Given the description of an element on the screen output the (x, y) to click on. 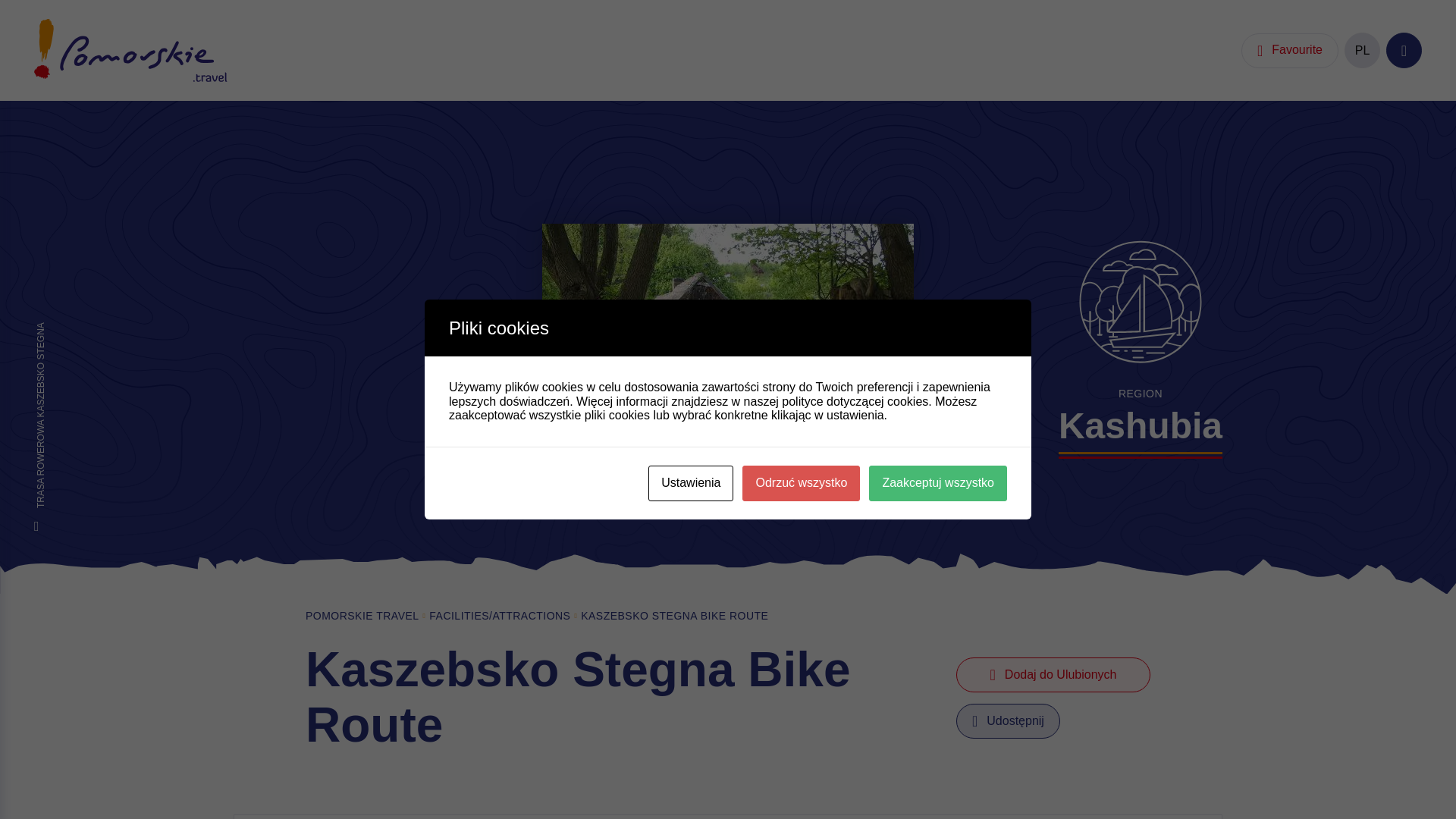
PL (1361, 49)
Dodaj do Ulubionych (1053, 674)
POMORSKIE TRAVEL (362, 616)
Favourite (1289, 50)
